Given the description of an element on the screen output the (x, y) to click on. 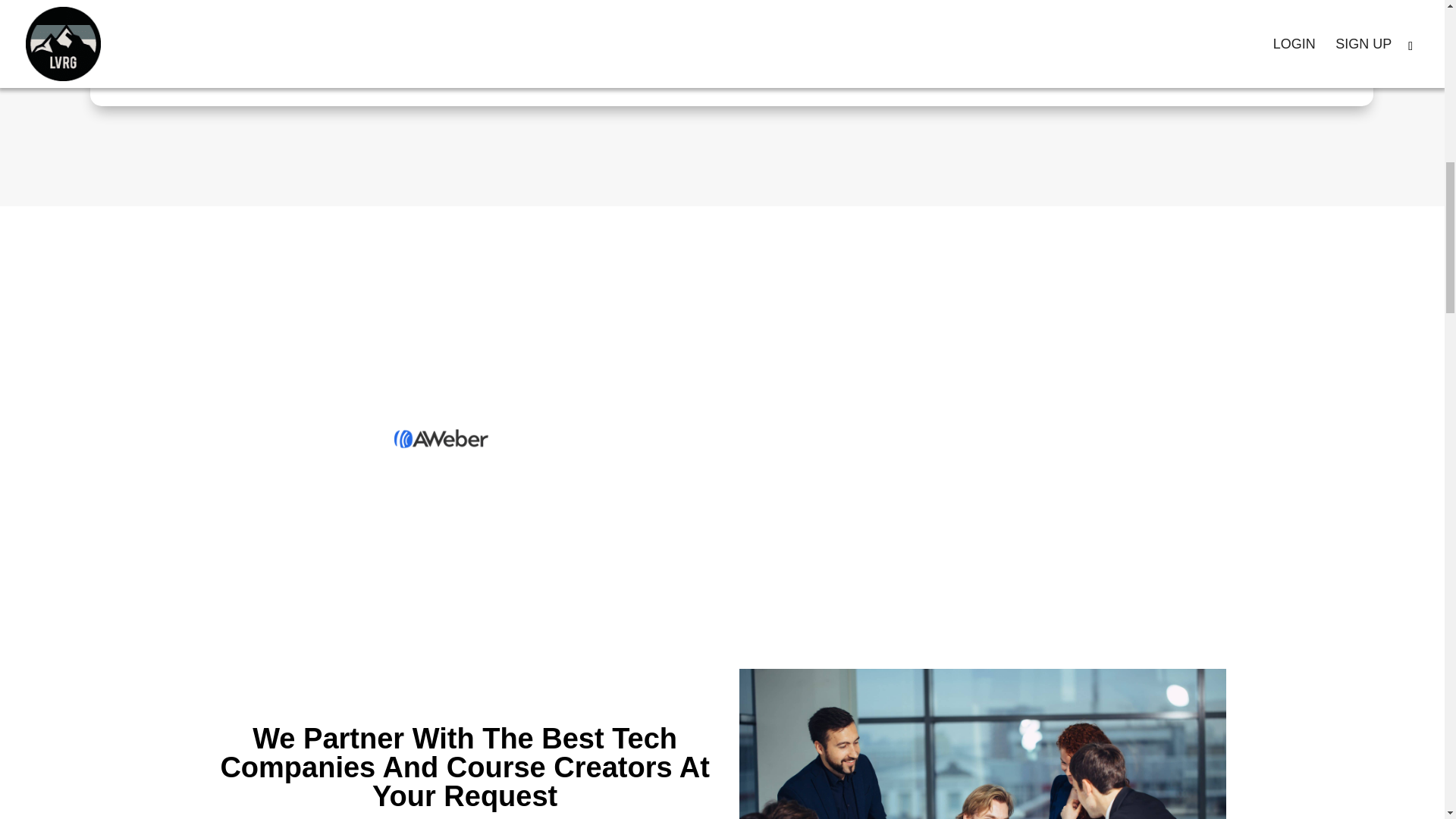
7 (441, 438)
Subscribe (1203, 15)
